Given the description of an element on the screen output the (x, y) to click on. 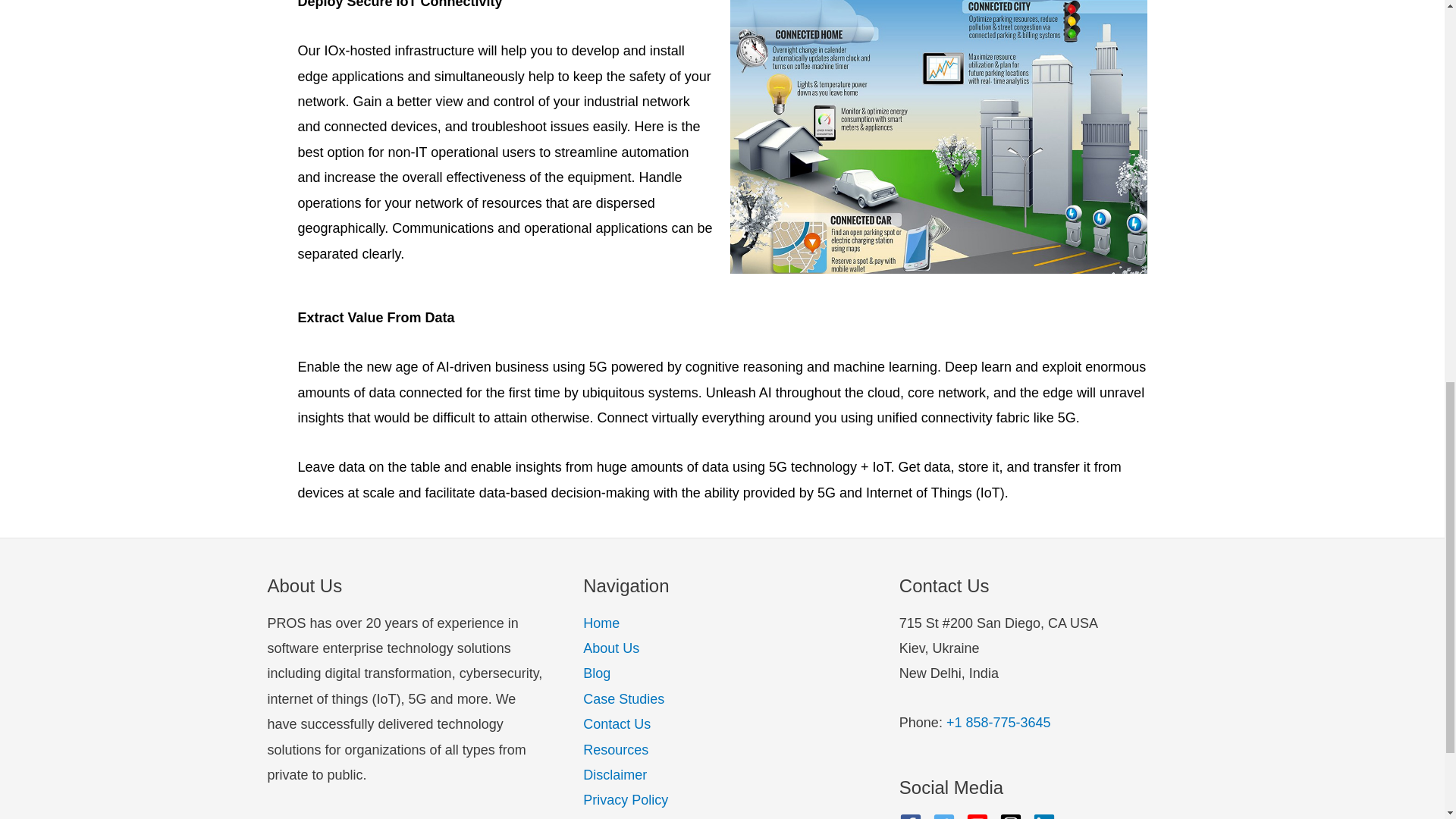
Blog (596, 672)
Home (601, 622)
Disclaimer (614, 774)
Resources (615, 749)
Privacy Policy (625, 799)
Contact Us (616, 724)
About Us (611, 648)
Case Studies (623, 698)
